Given the description of an element on the screen output the (x, y) to click on. 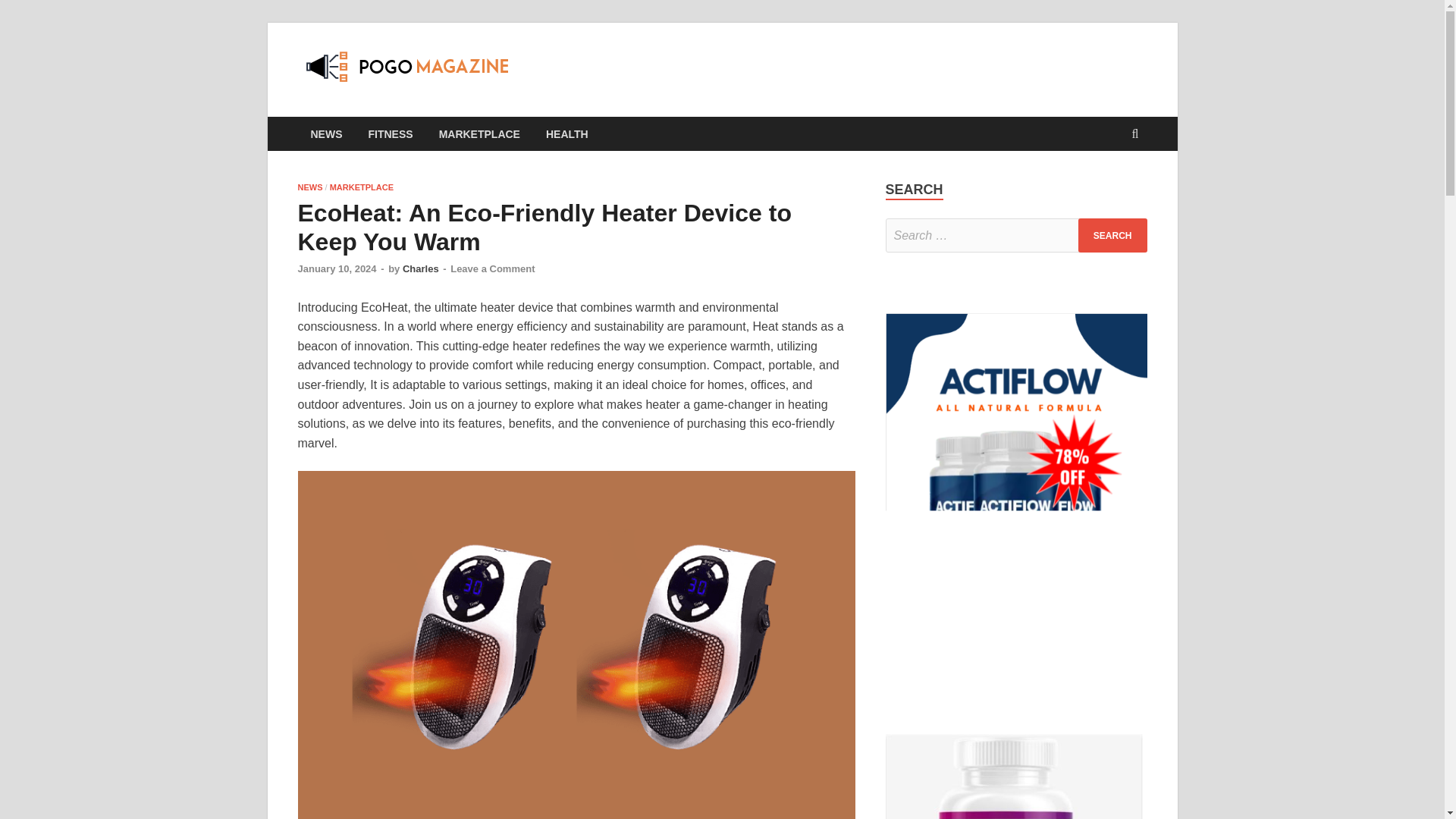
Leave a Comment (491, 268)
Pogo Magazine (625, 74)
Charles (421, 268)
Search (1112, 235)
Search (1112, 235)
MARKETPLACE (361, 186)
January 10, 2024 (336, 268)
NEWS (309, 186)
FITNESS (390, 133)
Search (1112, 235)
